Given the description of an element on the screen output the (x, y) to click on. 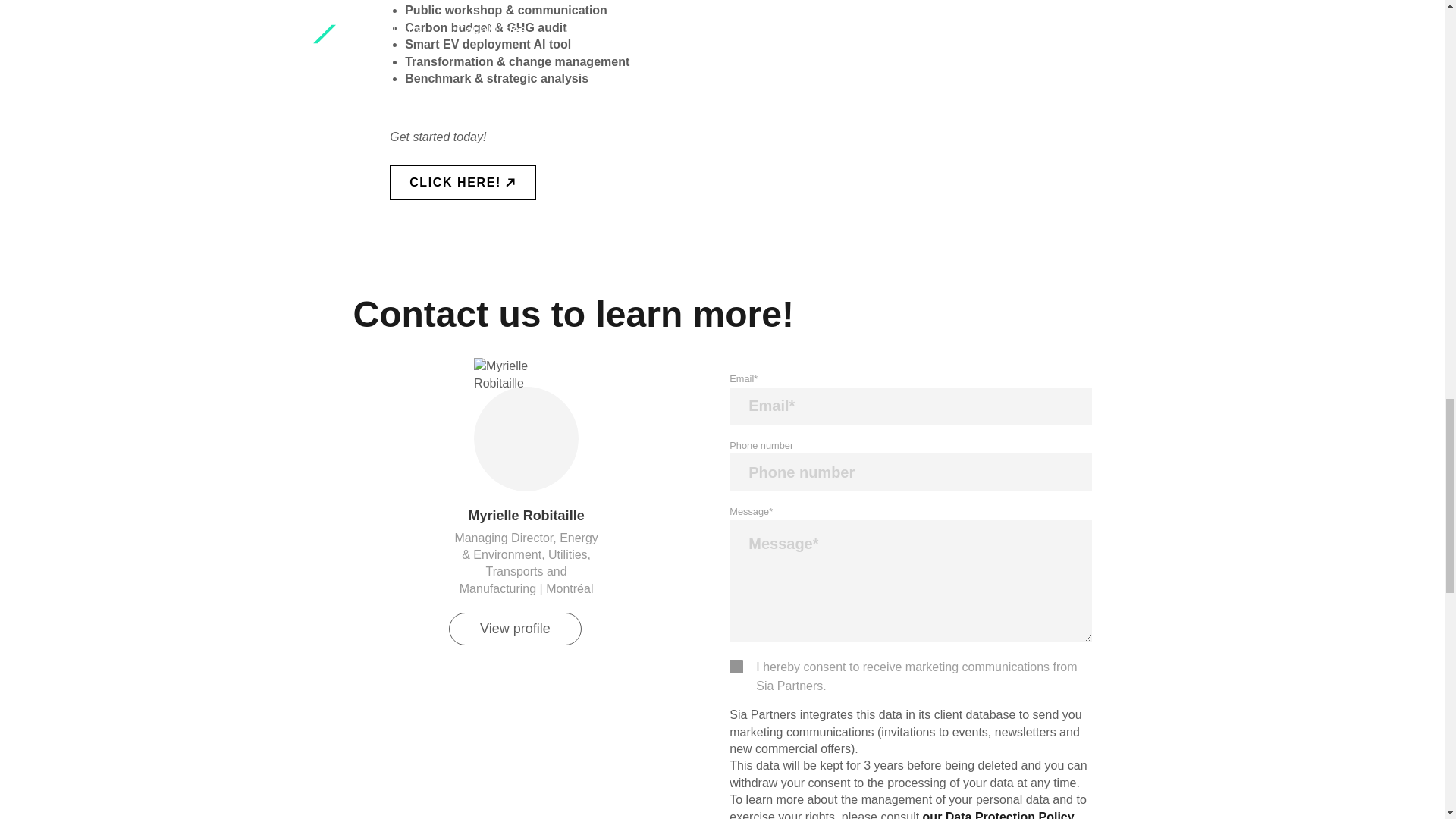
View profile (514, 628)
Click here! (462, 181)
